Given the description of an element on the screen output the (x, y) to click on. 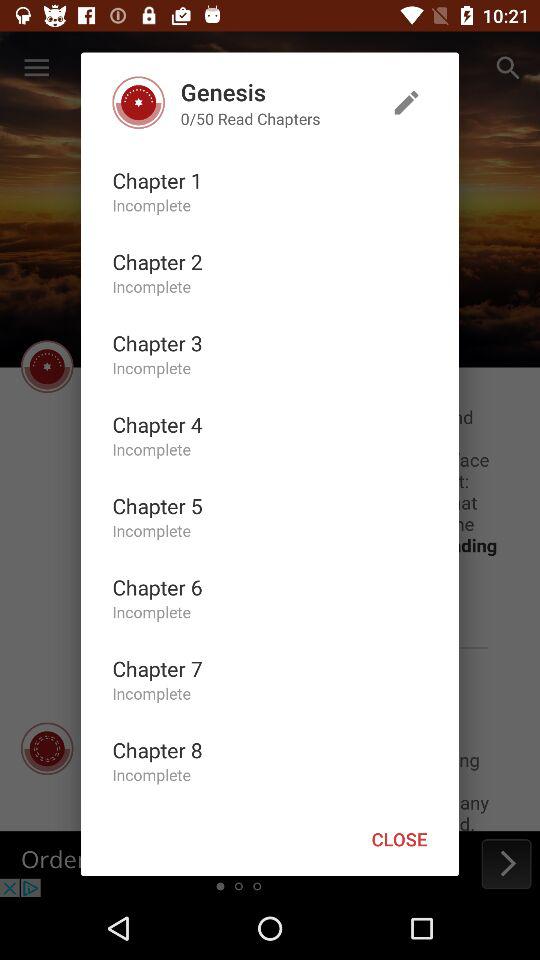
turn off icon below the incomplete (157, 668)
